Given the description of an element on the screen output the (x, y) to click on. 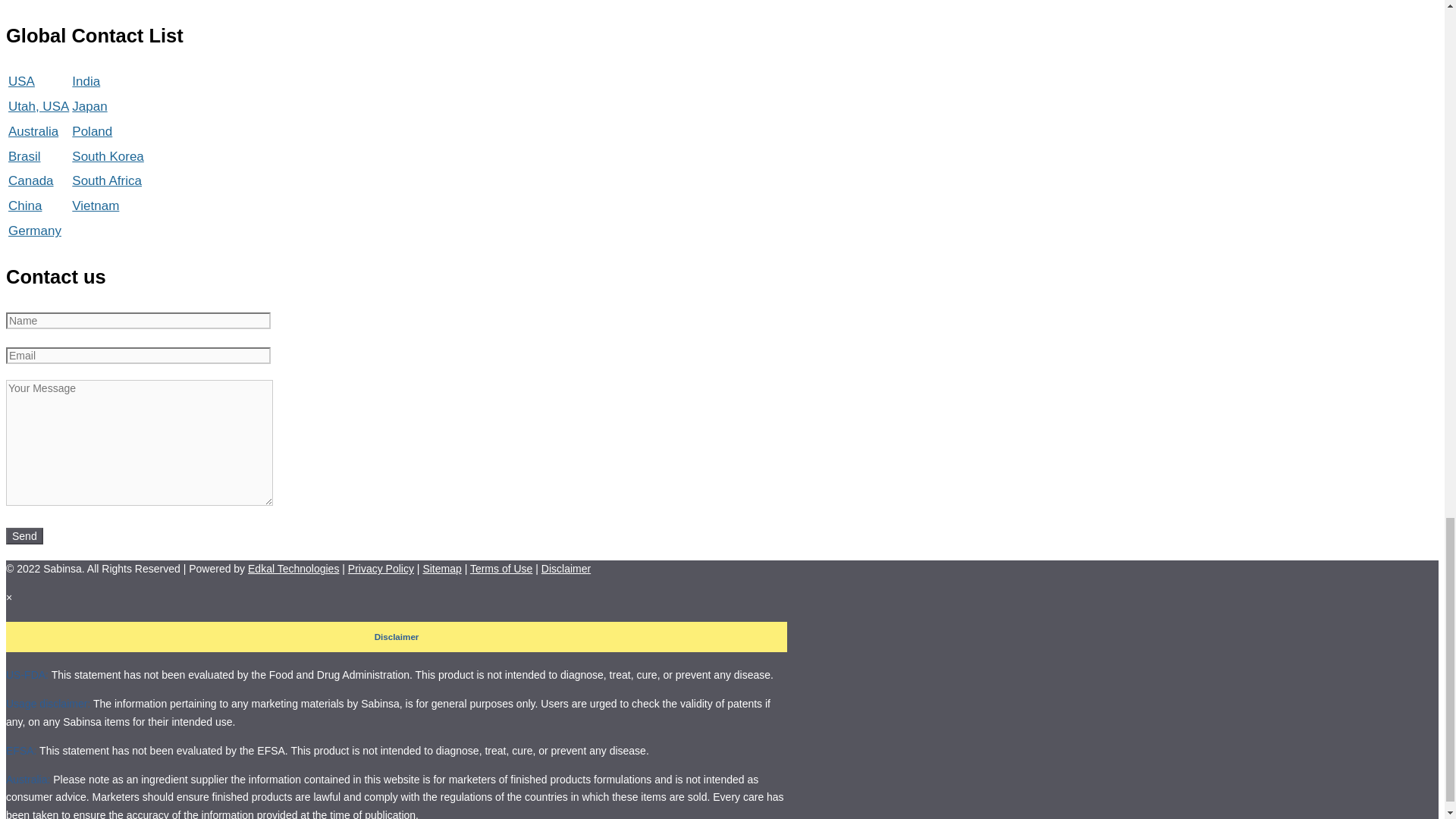
Send (24, 535)
South Korea (107, 156)
Brasil (24, 156)
Utah, USA (38, 106)
USA (21, 81)
Poland (91, 131)
Edkal Technologies (293, 568)
Send (24, 535)
Germany (34, 230)
Vietnam (95, 205)
